Given the description of an element on the screen output the (x, y) to click on. 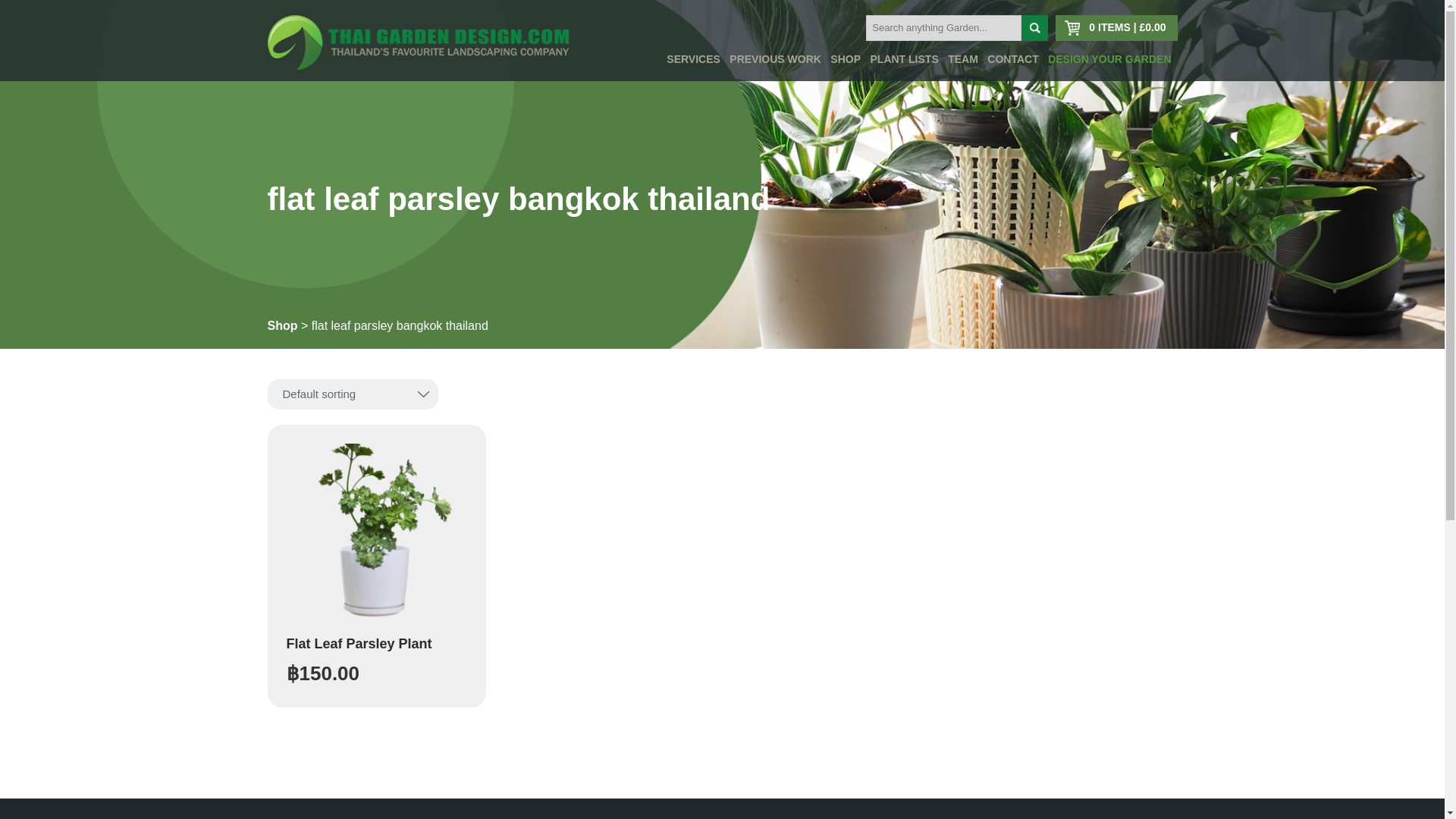
SERVICES (693, 59)
PREVIOUS WORK (775, 59)
PLANT LISTS (904, 59)
Shop (281, 325)
SHOP (844, 59)
TEAM (962, 59)
DESIGN YOUR GARDEN (1109, 59)
CONTACT (1012, 59)
GO (1035, 27)
